Given the description of an element on the screen output the (x, y) to click on. 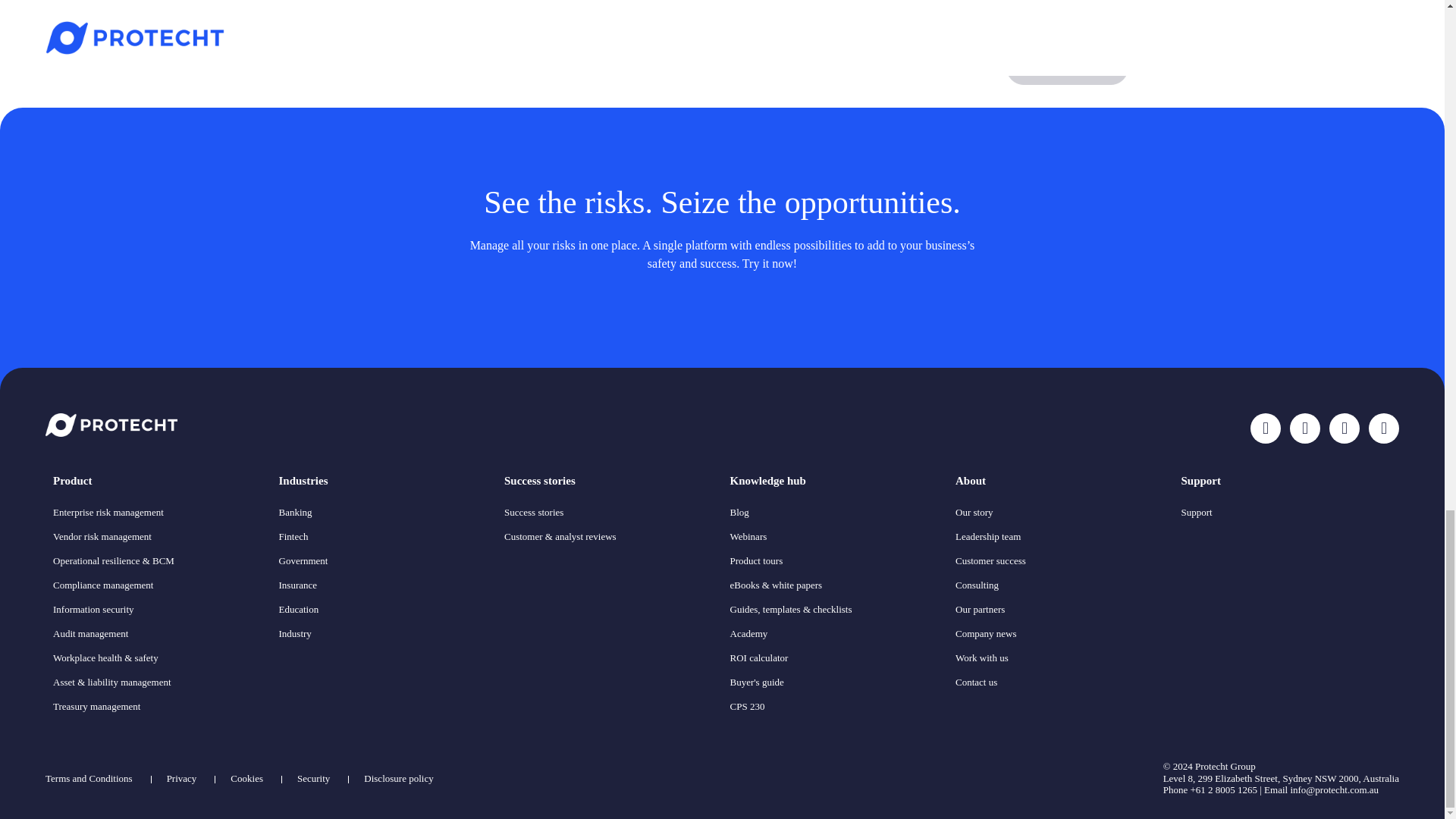
Industry (295, 633)
Compliance management (102, 584)
Success stories (533, 511)
Copy URL (1067, 67)
Education (298, 609)
Fintech (293, 536)
Enterprise risk management (107, 511)
Industries (384, 480)
Success stories (608, 480)
Insurance (298, 584)
